Given the description of an element on the screen output the (x, y) to click on. 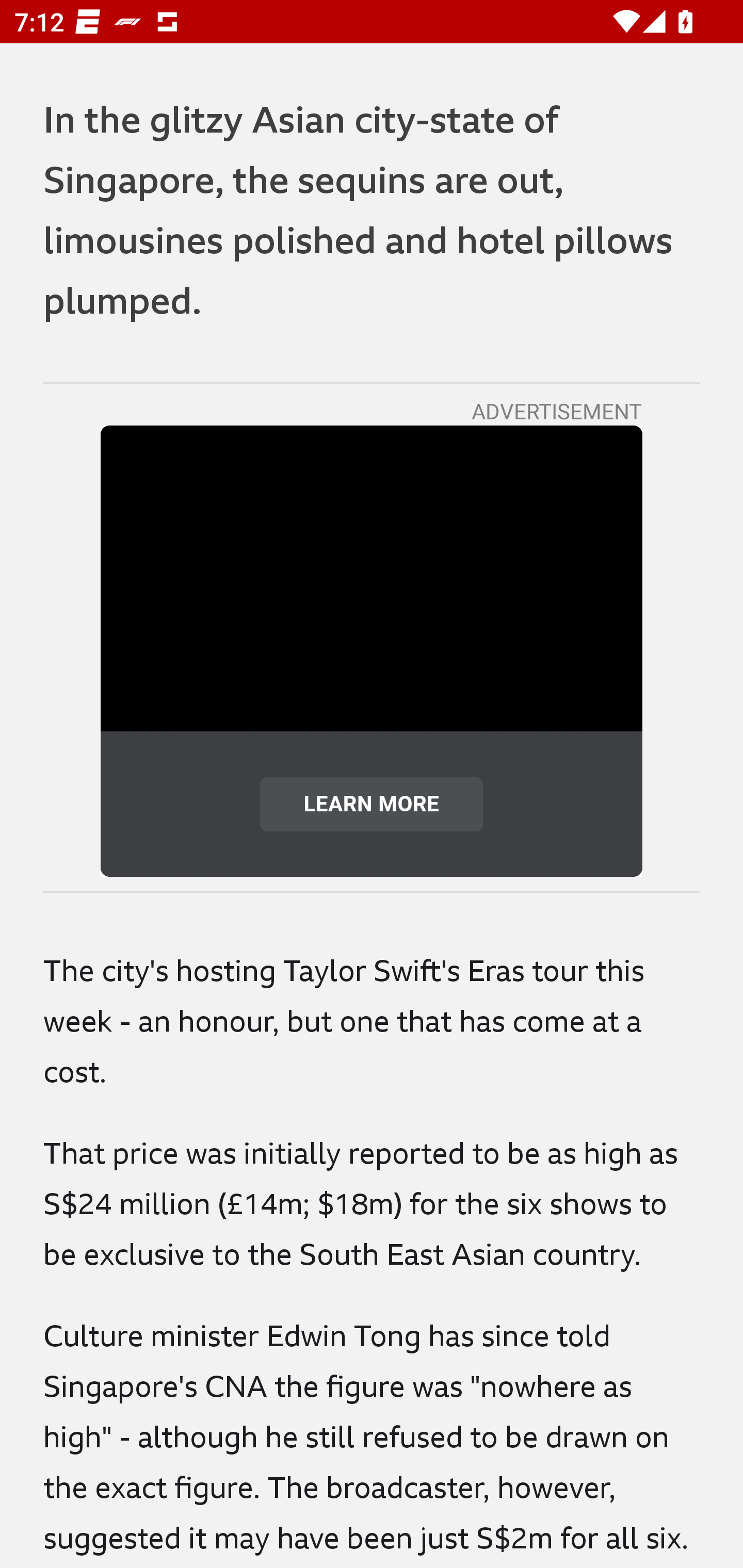
Video Player   LEARN MORE (371, 651)
LEARN MORE (371, 804)
